Given the description of an element on the screen output the (x, y) to click on. 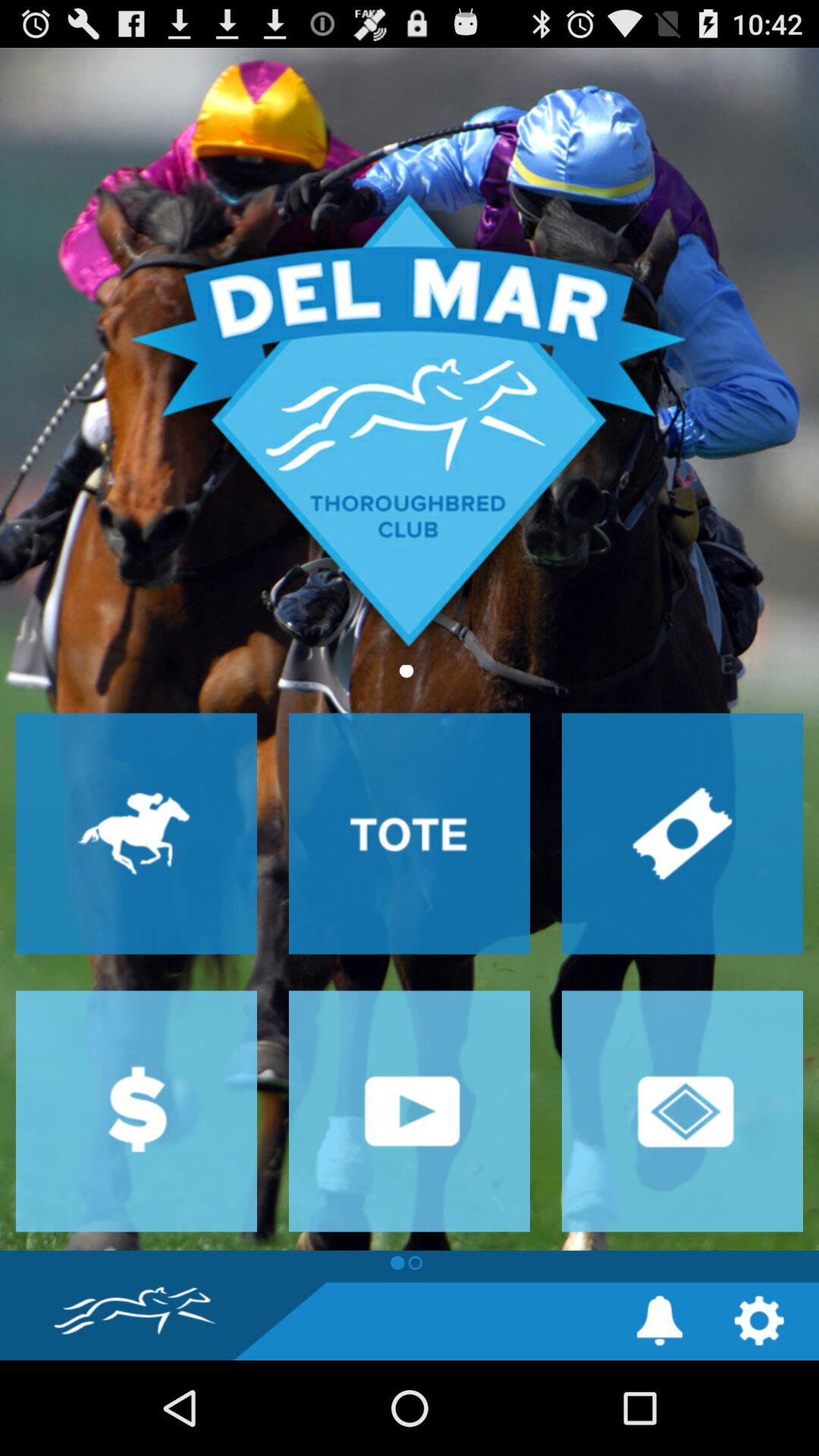
select tote (409, 833)
